Given the description of an element on the screen output the (x, y) to click on. 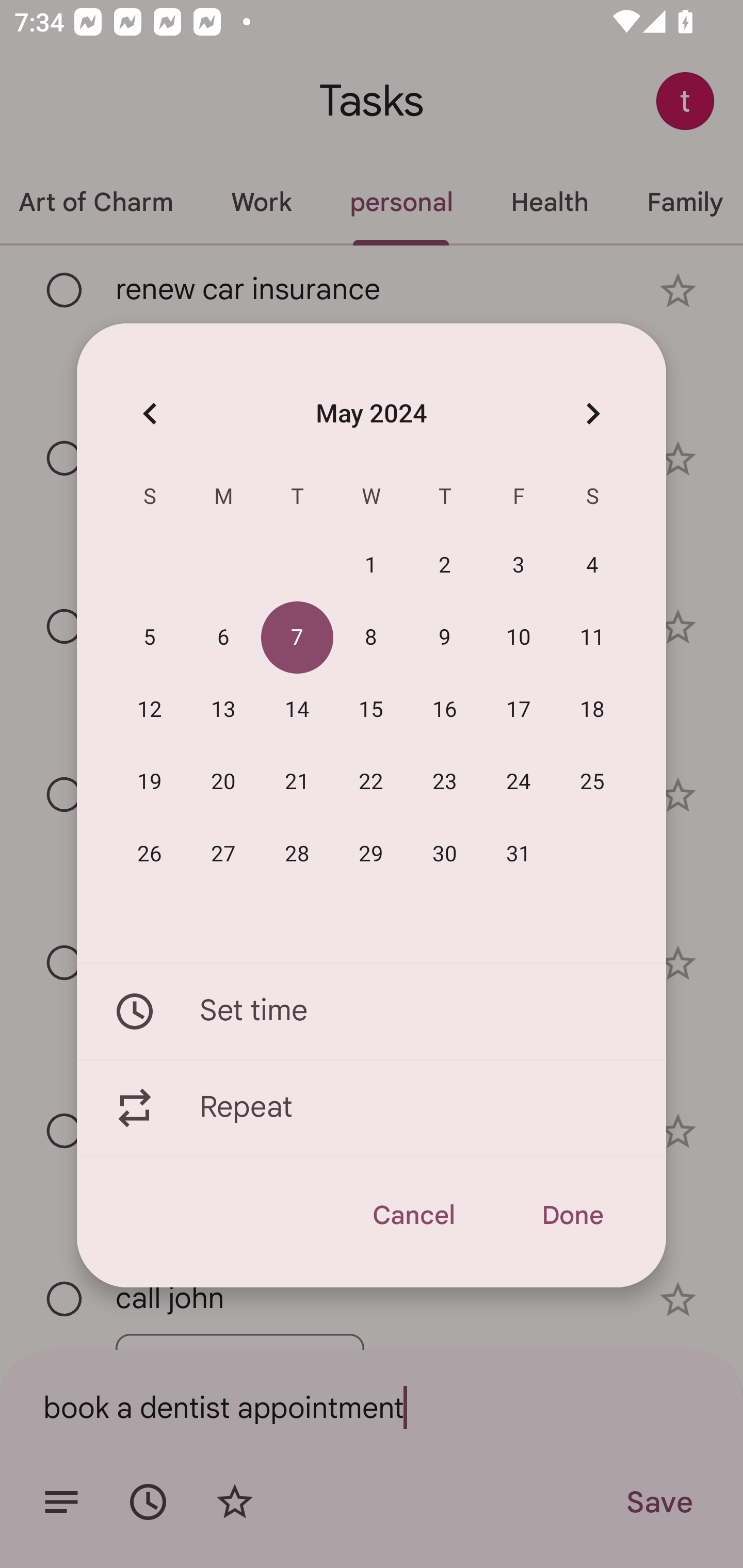
Previous month (149, 413)
Next month (592, 413)
1 01 May 2024 (370, 565)
2 02 May 2024 (444, 565)
3 03 May 2024 (518, 565)
4 04 May 2024 (592, 565)
5 05 May 2024 (149, 638)
6 06 May 2024 (223, 638)
7 07 May 2024 (297, 638)
8 08 May 2024 (370, 638)
9 09 May 2024 (444, 638)
10 10 May 2024 (518, 638)
11 11 May 2024 (592, 638)
12 12 May 2024 (149, 710)
13 13 May 2024 (223, 710)
14 14 May 2024 (297, 710)
15 15 May 2024 (370, 710)
16 16 May 2024 (444, 710)
17 17 May 2024 (518, 710)
18 18 May 2024 (592, 710)
19 19 May 2024 (149, 782)
20 20 May 2024 (223, 782)
21 21 May 2024 (297, 782)
22 22 May 2024 (370, 782)
23 23 May 2024 (444, 782)
24 24 May 2024 (518, 782)
25 25 May 2024 (592, 782)
26 26 May 2024 (149, 854)
27 27 May 2024 (223, 854)
28 28 May 2024 (297, 854)
29 29 May 2024 (370, 854)
30 30 May 2024 (444, 854)
31 31 May 2024 (518, 854)
Set time (371, 1011)
Repeat (371, 1108)
Cancel (412, 1215)
Done (571, 1215)
